Given the description of an element on the screen output the (x, y) to click on. 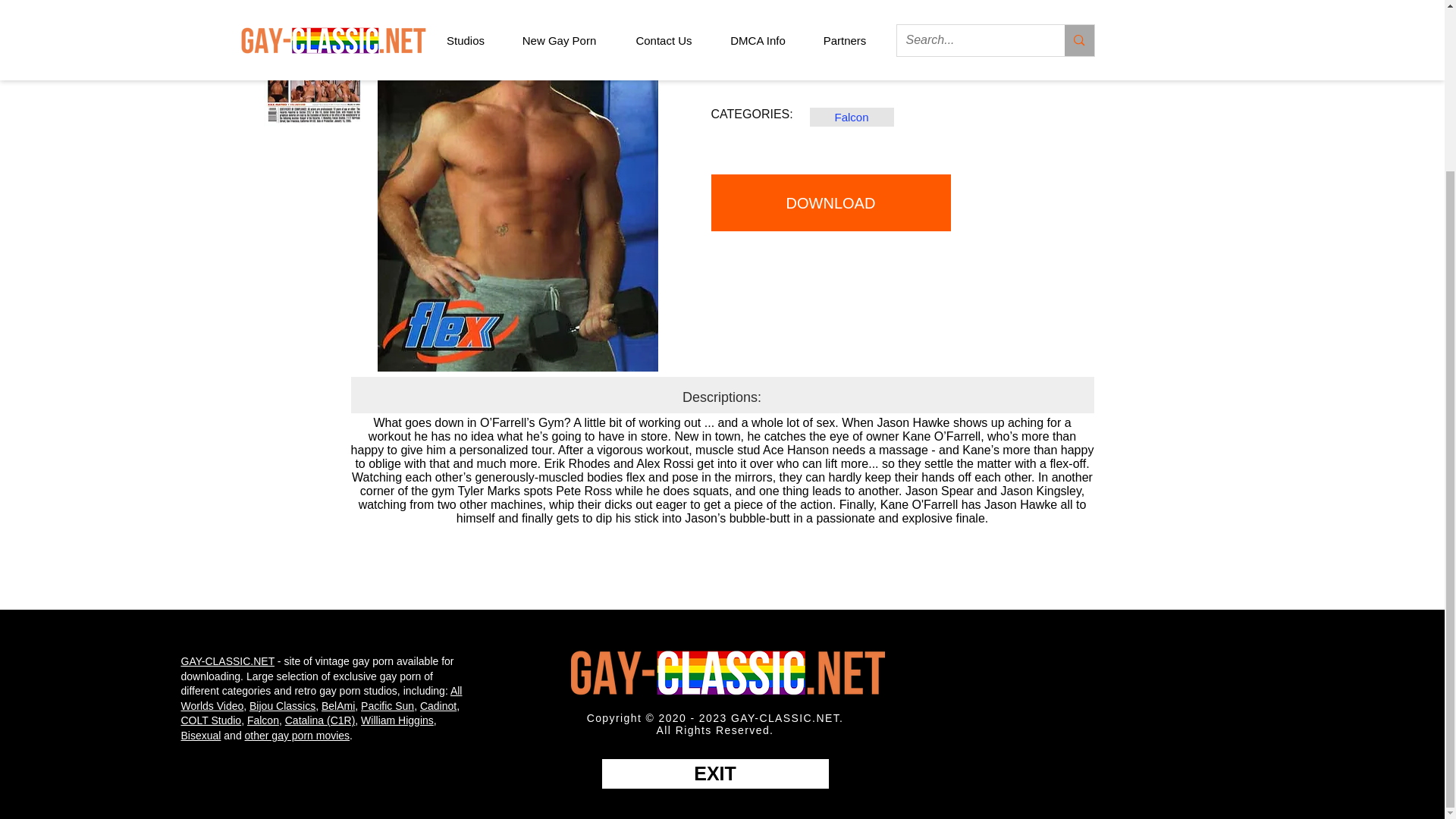
EXIT (715, 773)
Bijou Classics (281, 705)
William Higgins (397, 720)
COLT Studio (210, 720)
Falcon (263, 720)
All Worlds Video (320, 697)
BelAmi (338, 705)
Bisexual (200, 735)
DOWNLOAD (830, 202)
GAY-CLASSIC.NET (226, 661)
